Given the description of an element on the screen output the (x, y) to click on. 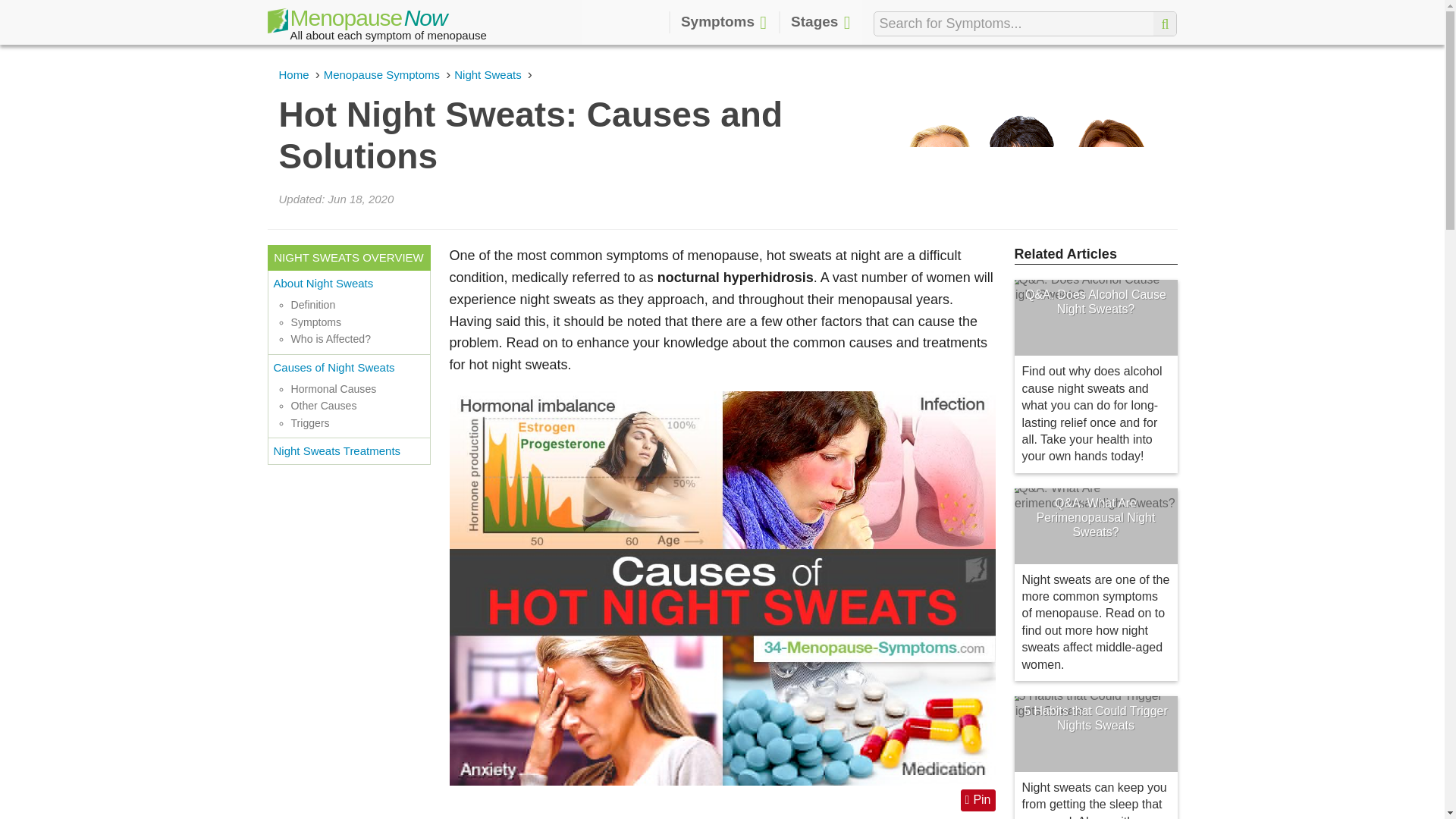
Pin (977, 799)
s (1164, 24)
Menopause Now (356, 24)
Symptoms (723, 22)
Causes of Hot Night Sweats (721, 587)
